Given the description of an element on the screen output the (x, y) to click on. 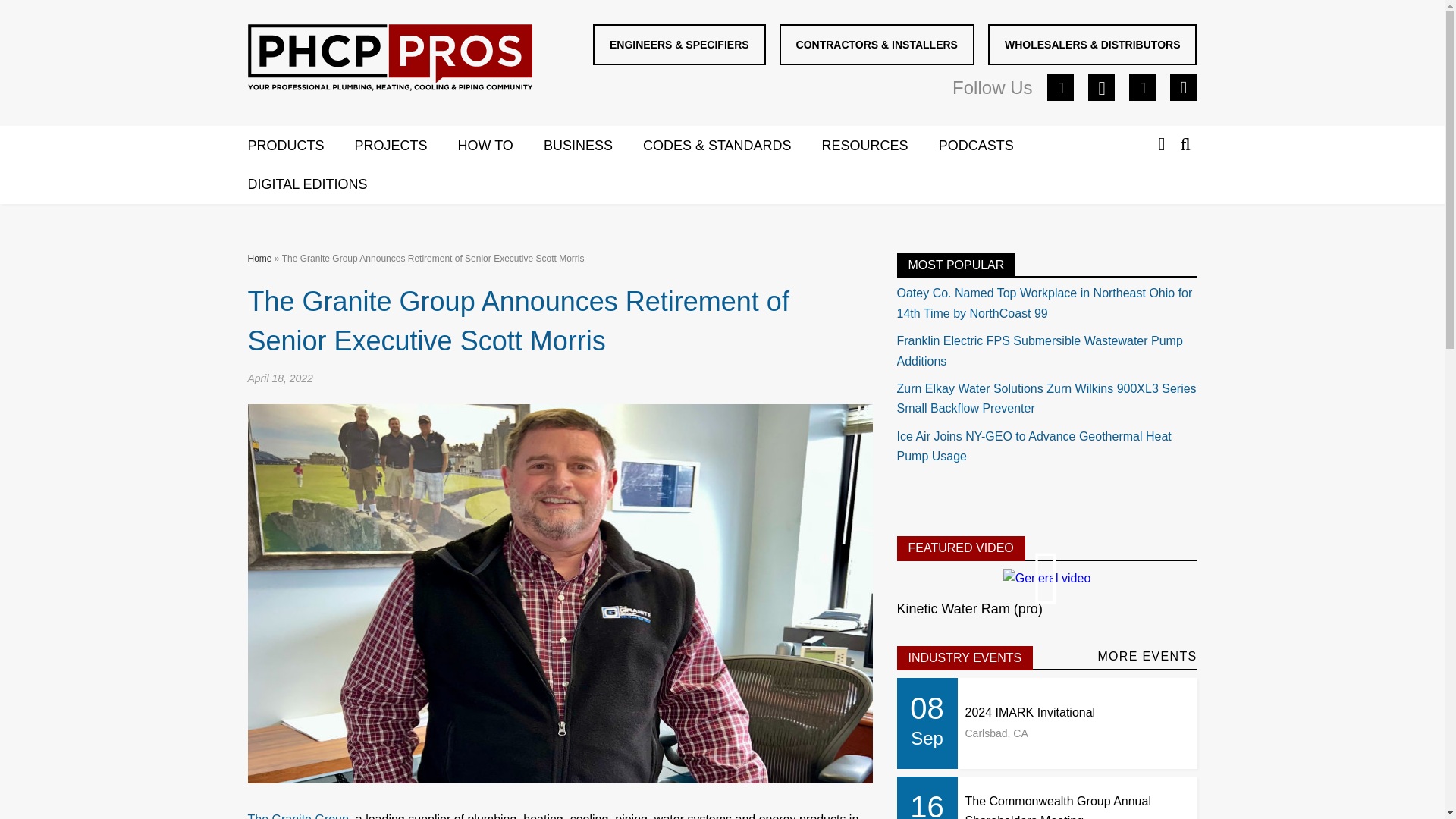
logo (389, 57)
logo (389, 60)
BUSINESS (593, 146)
PROJECTS (406, 146)
PRODUCTS (300, 146)
HOW TO (500, 146)
